Given the description of an element on the screen output the (x, y) to click on. 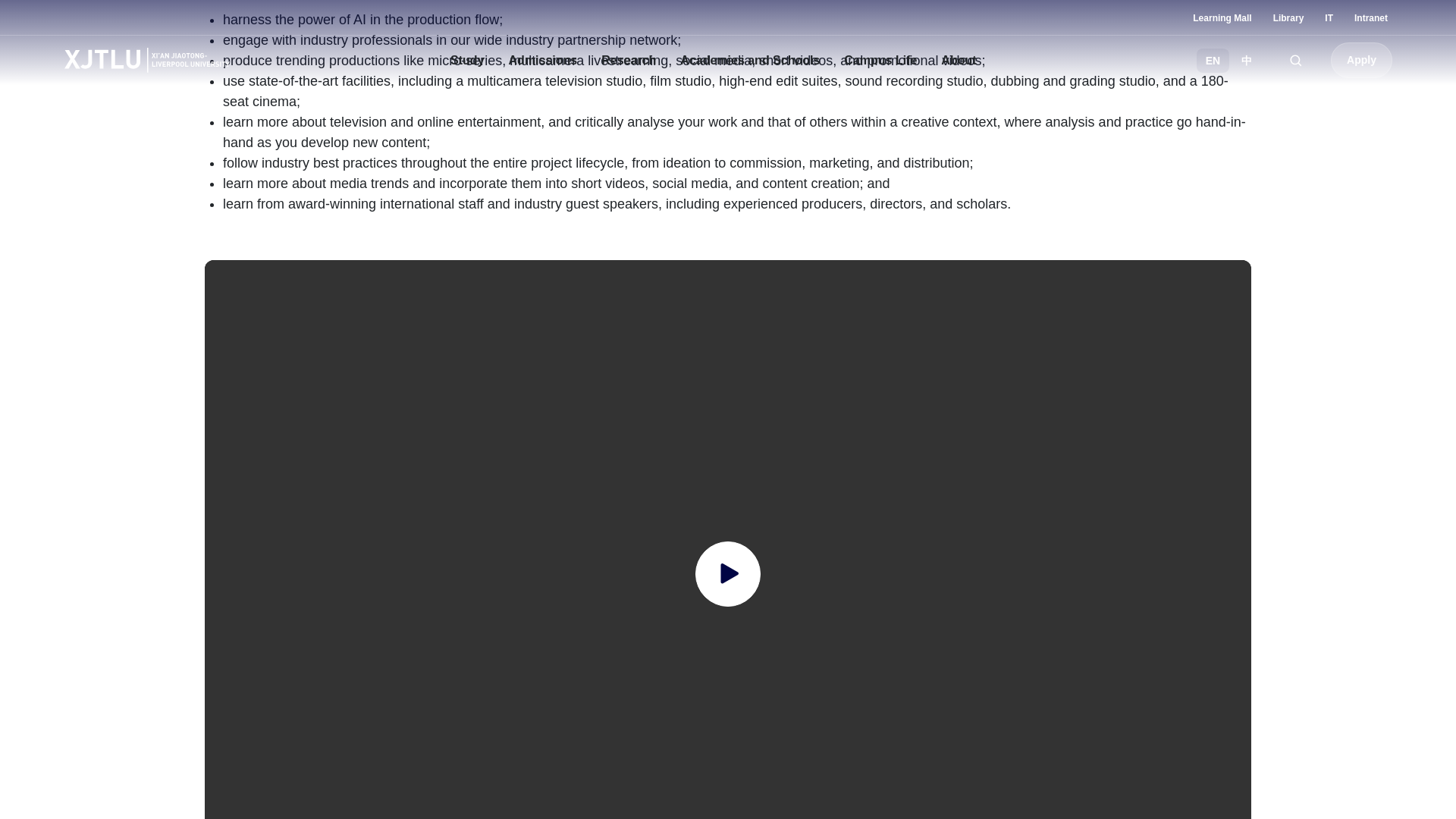
Play Video (727, 573)
